Given the description of an element on the screen output the (x, y) to click on. 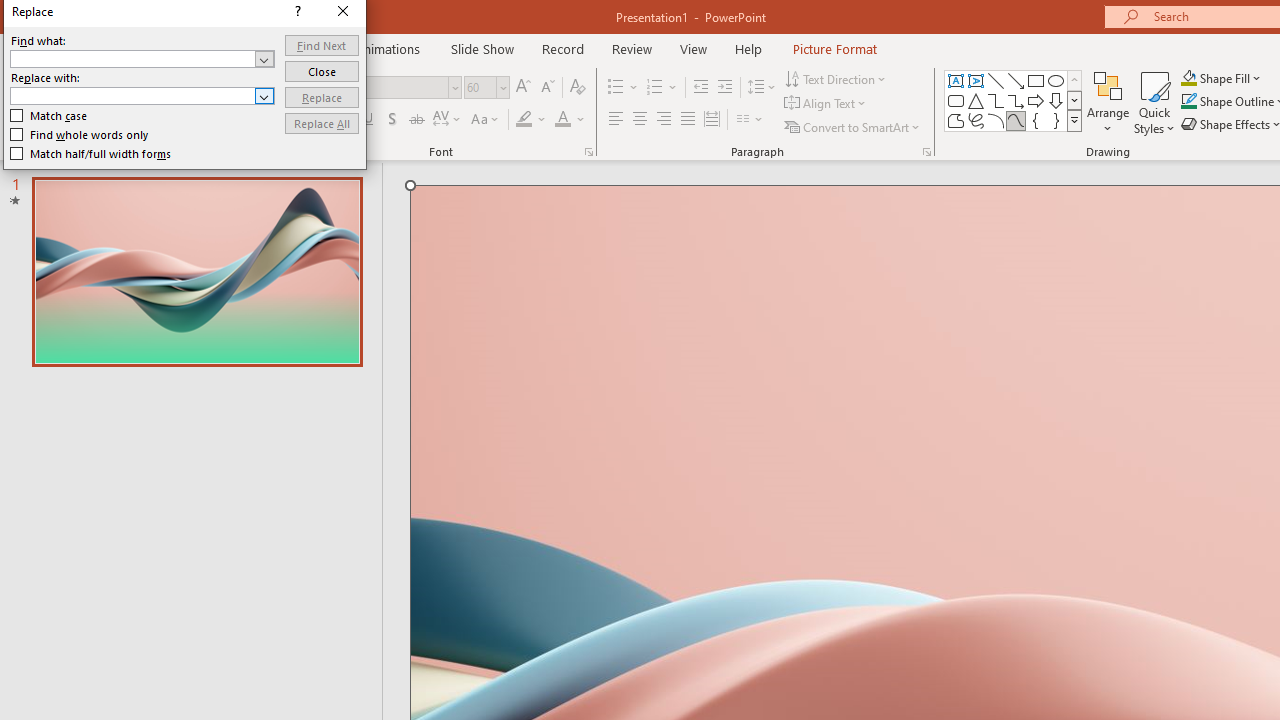
Convert to SmartArt (853, 126)
Find what (142, 58)
Replace All (321, 123)
Font Color Red (562, 119)
Align Right (663, 119)
Quick Styles (1154, 102)
Clear Formatting (577, 87)
Line Arrow (1016, 80)
Arrange (1108, 102)
